Given the description of an element on the screen output the (x, y) to click on. 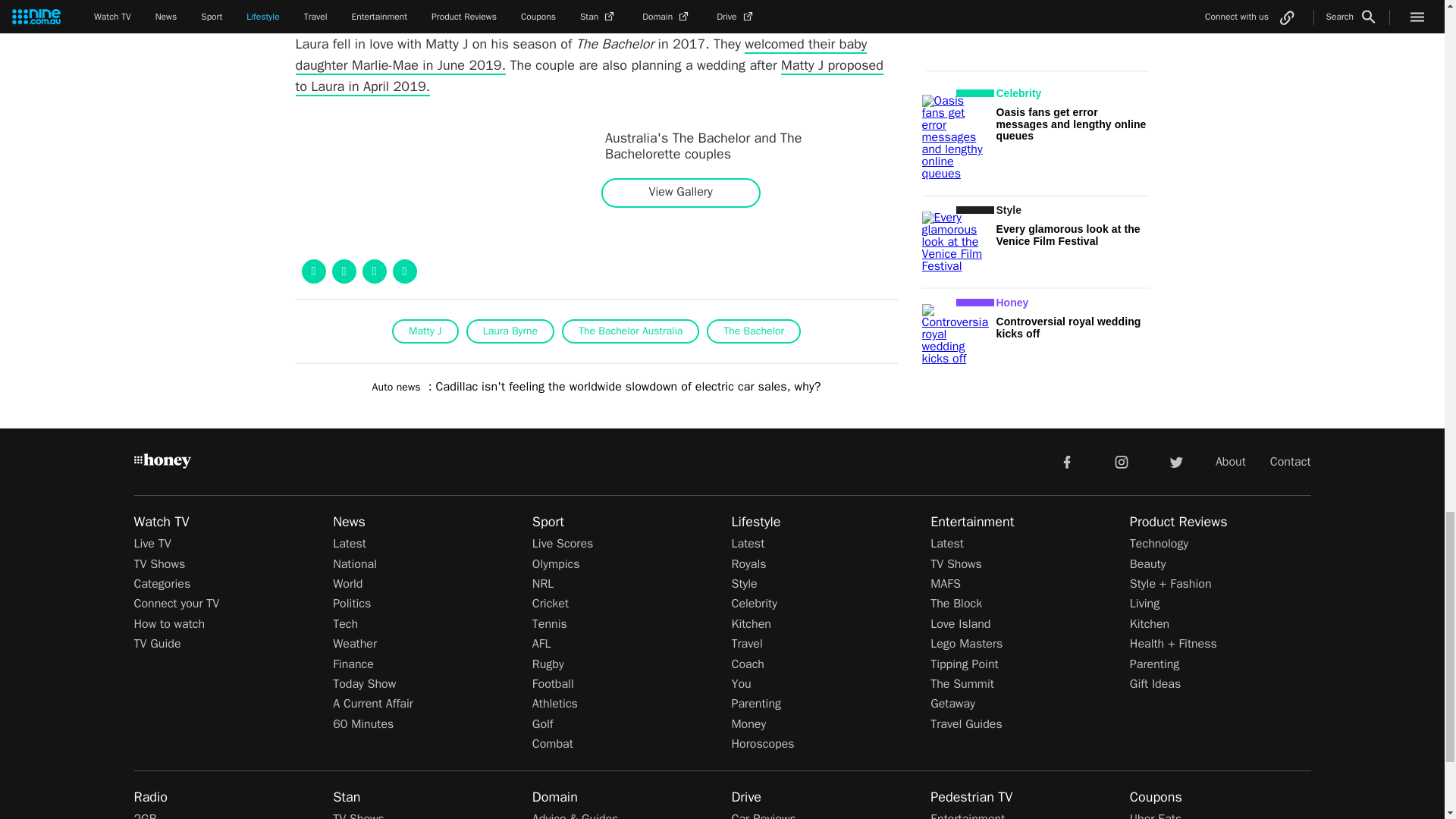
welcomed their baby daughter Marlie-Mae in June 2019. (581, 54)
instagram (1121, 460)
twitter (1175, 460)
welcomed their baby daughter Marlie-Mae in June 2019. (581, 54)
 Matty J proposed to Laura in April 2019. (589, 75)
facebook (1066, 460)
